Given the description of an element on the screen output the (x, y) to click on. 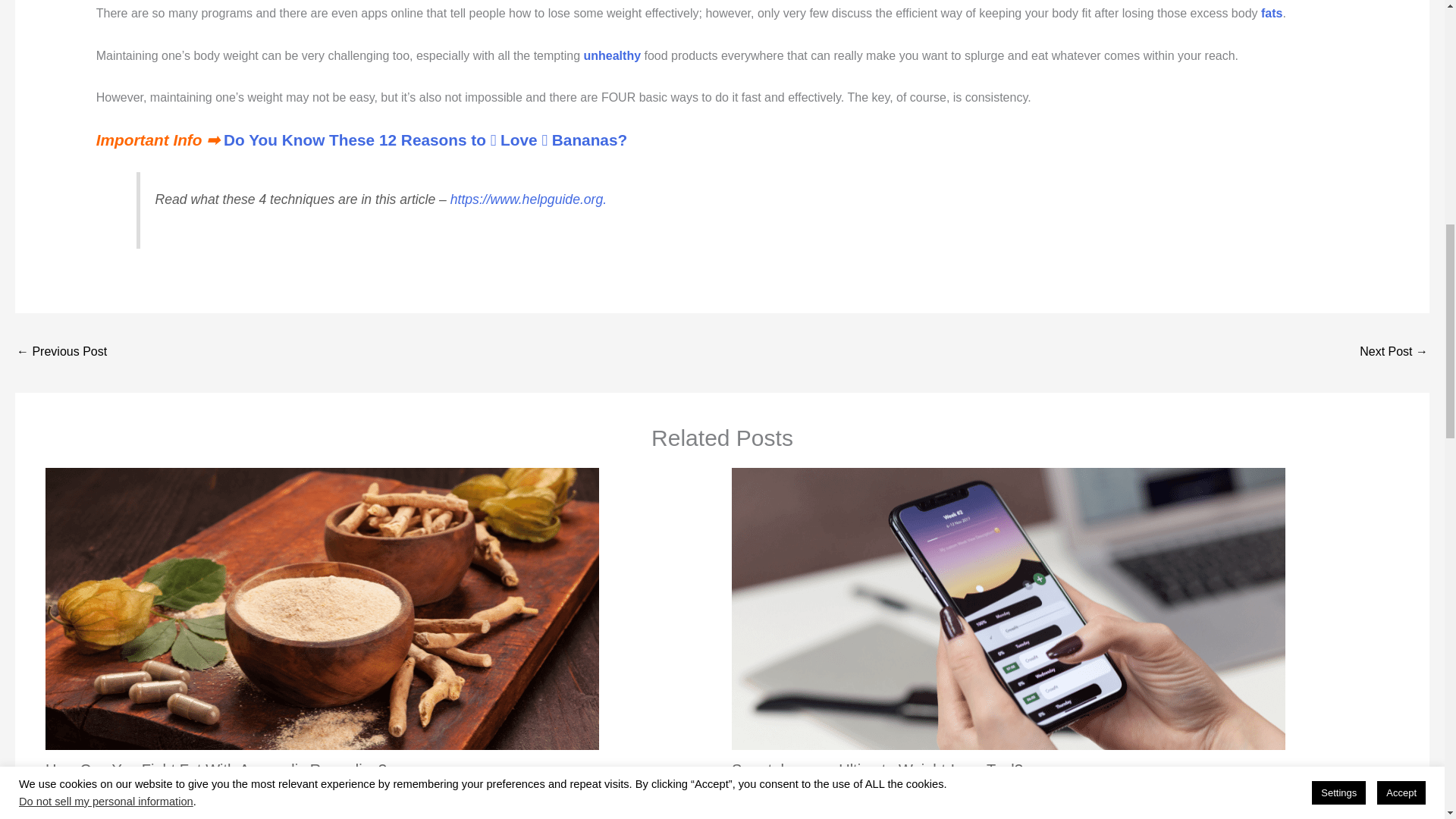
View all posts by Superfood (241, 789)
Weightloss (166, 789)
fats (1271, 12)
How Can You Fight Fat With Ayurvedic Remedies? (216, 769)
Superfood (241, 789)
Leave a Comment (88, 789)
View all posts by Superfood (927, 789)
unhealthy (611, 55)
